Given the description of an element on the screen output the (x, y) to click on. 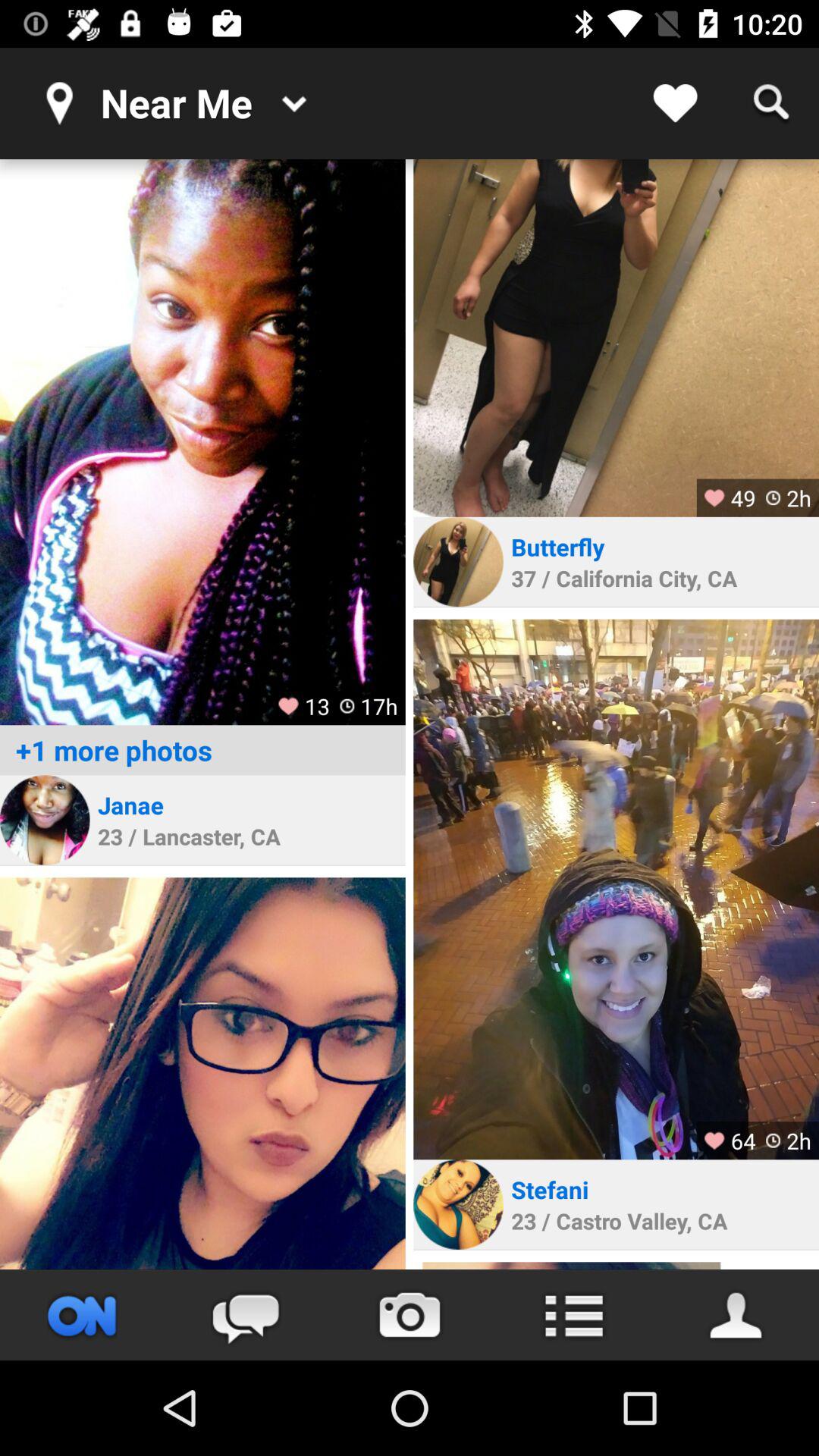
click photo (616, 337)
